Given the description of an element on the screen output the (x, y) to click on. 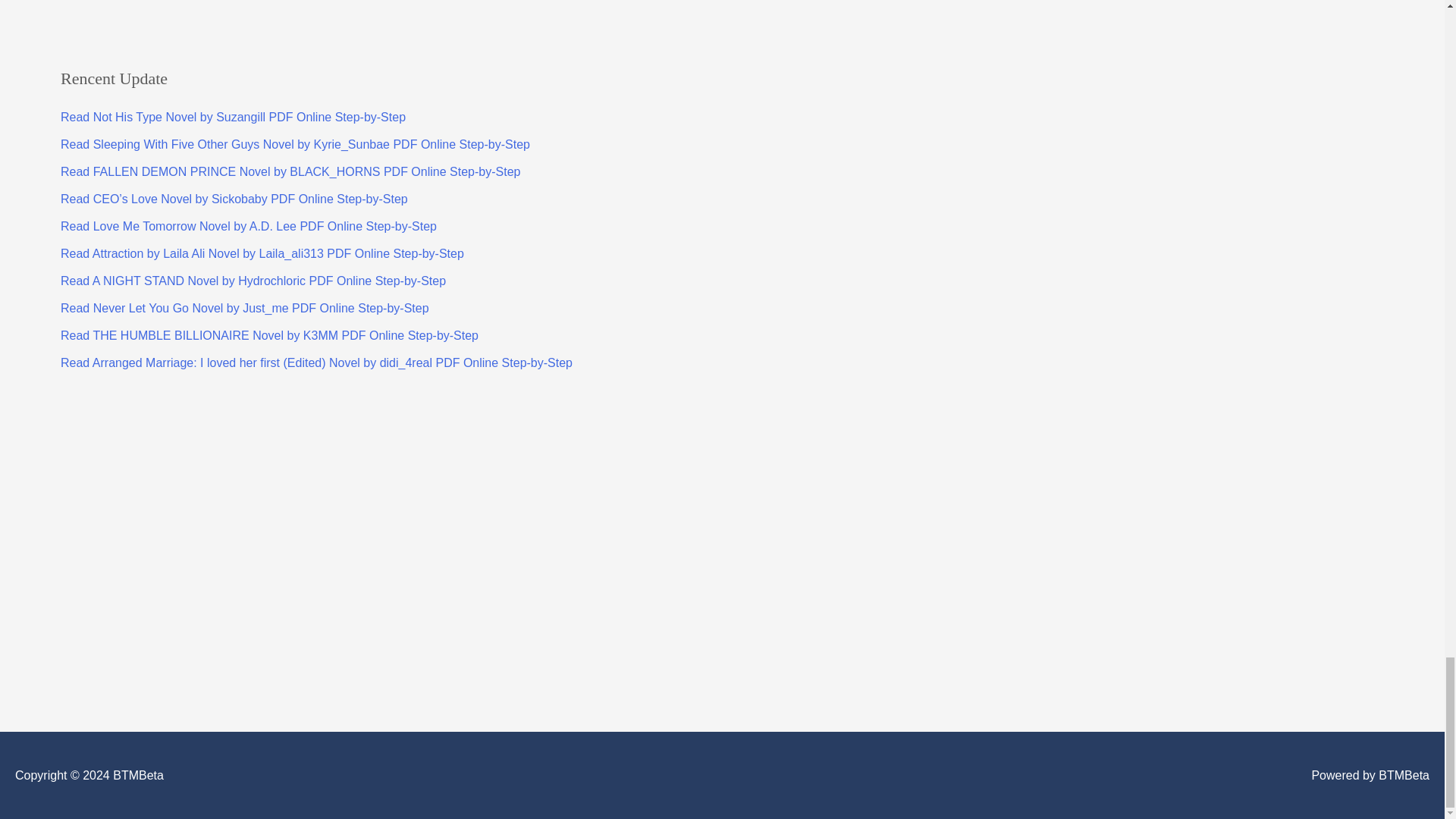
Read Not His Type Novel by Suzangill PDF Online Step-by-Step (233, 116)
Advertisement (142, 12)
